Given the description of an element on the screen output the (x, y) to click on. 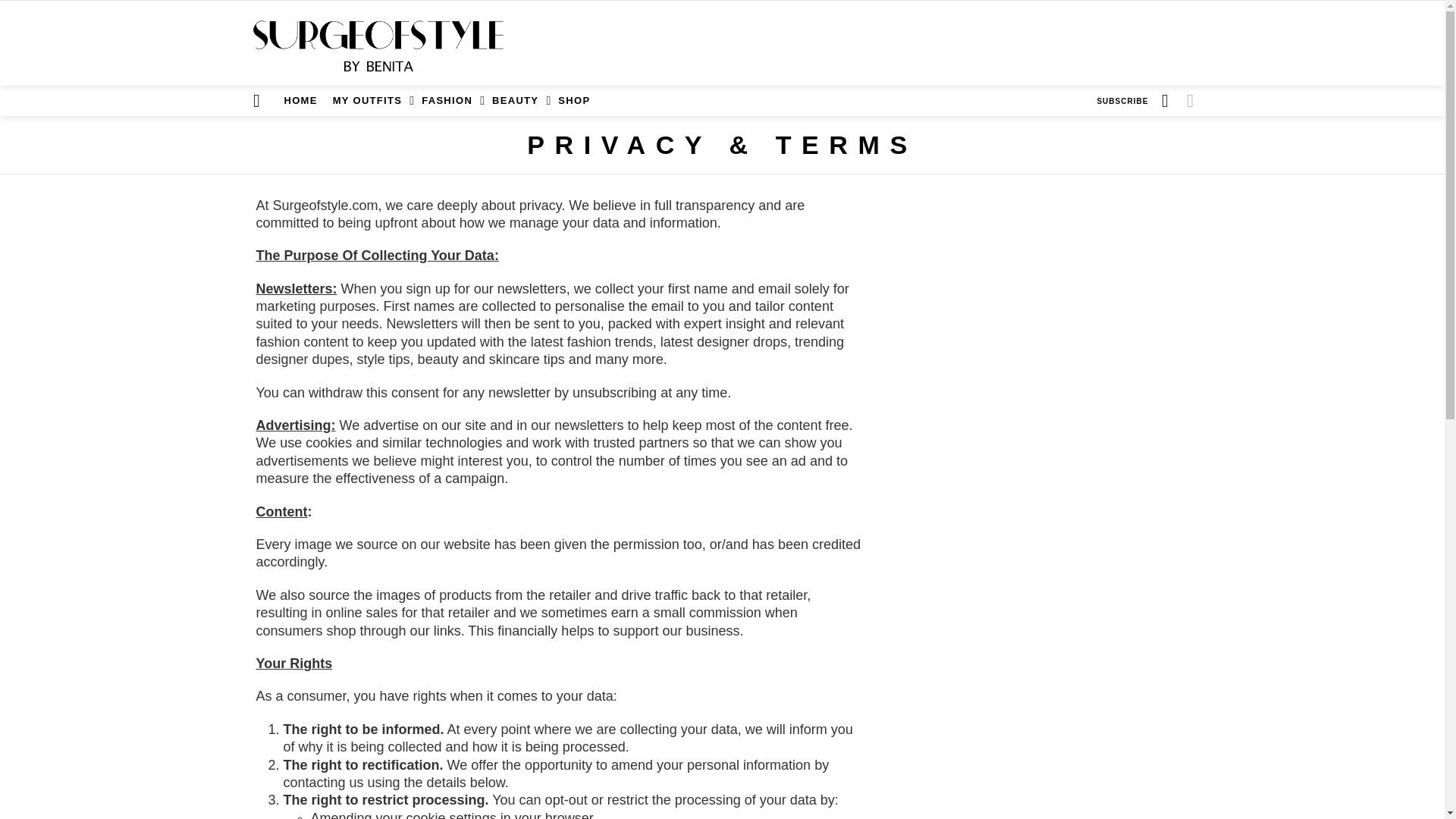
HOME (300, 100)
FASHION (448, 100)
BEAUTY (517, 100)
MY OUTFITS (368, 100)
Sign Up (1026, 243)
Menu (255, 100)
SHOP (573, 100)
